Given the description of an element on the screen output the (x, y) to click on. 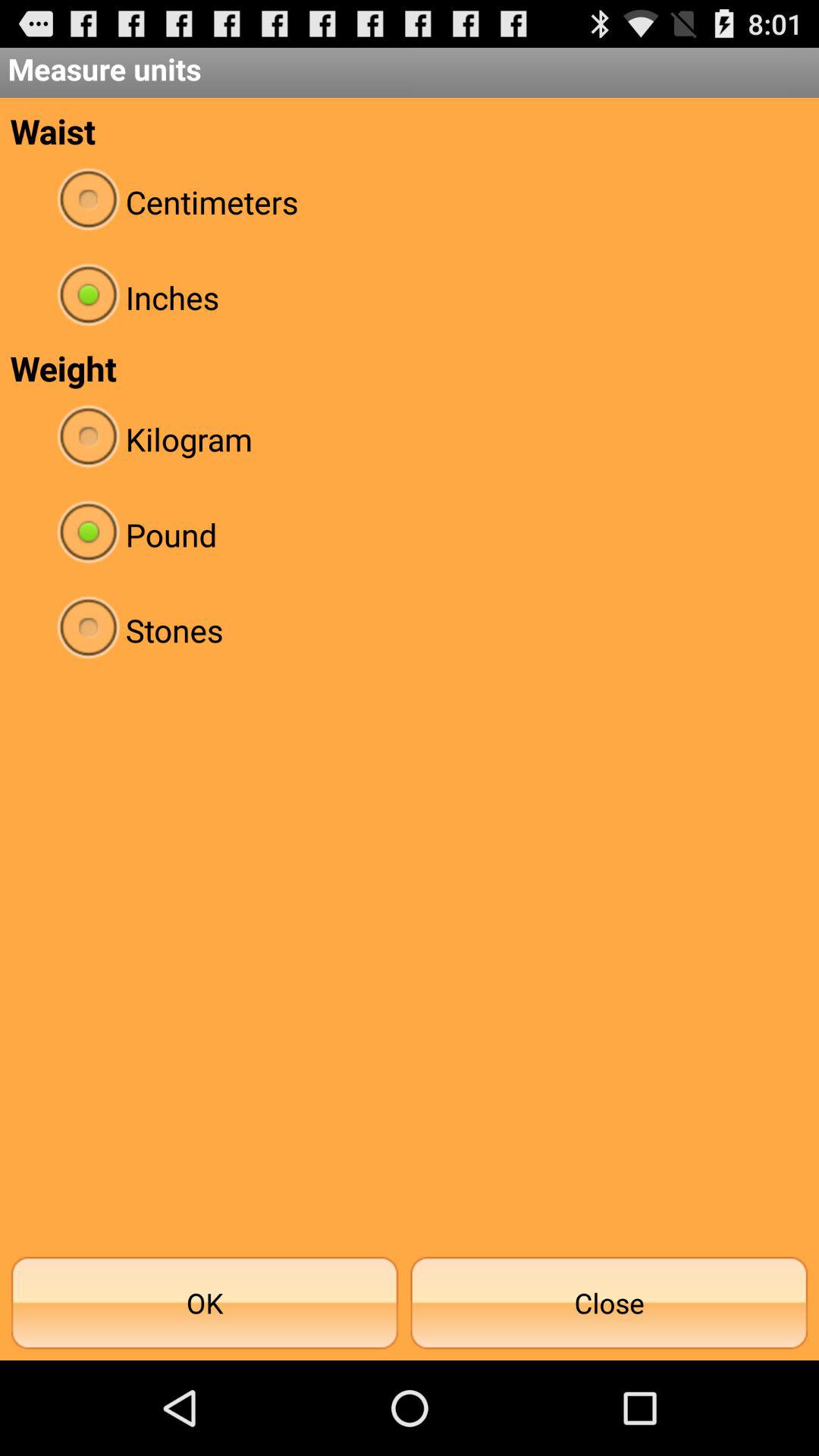
choose radio button above pound icon (409, 438)
